Given the description of an element on the screen output the (x, y) to click on. 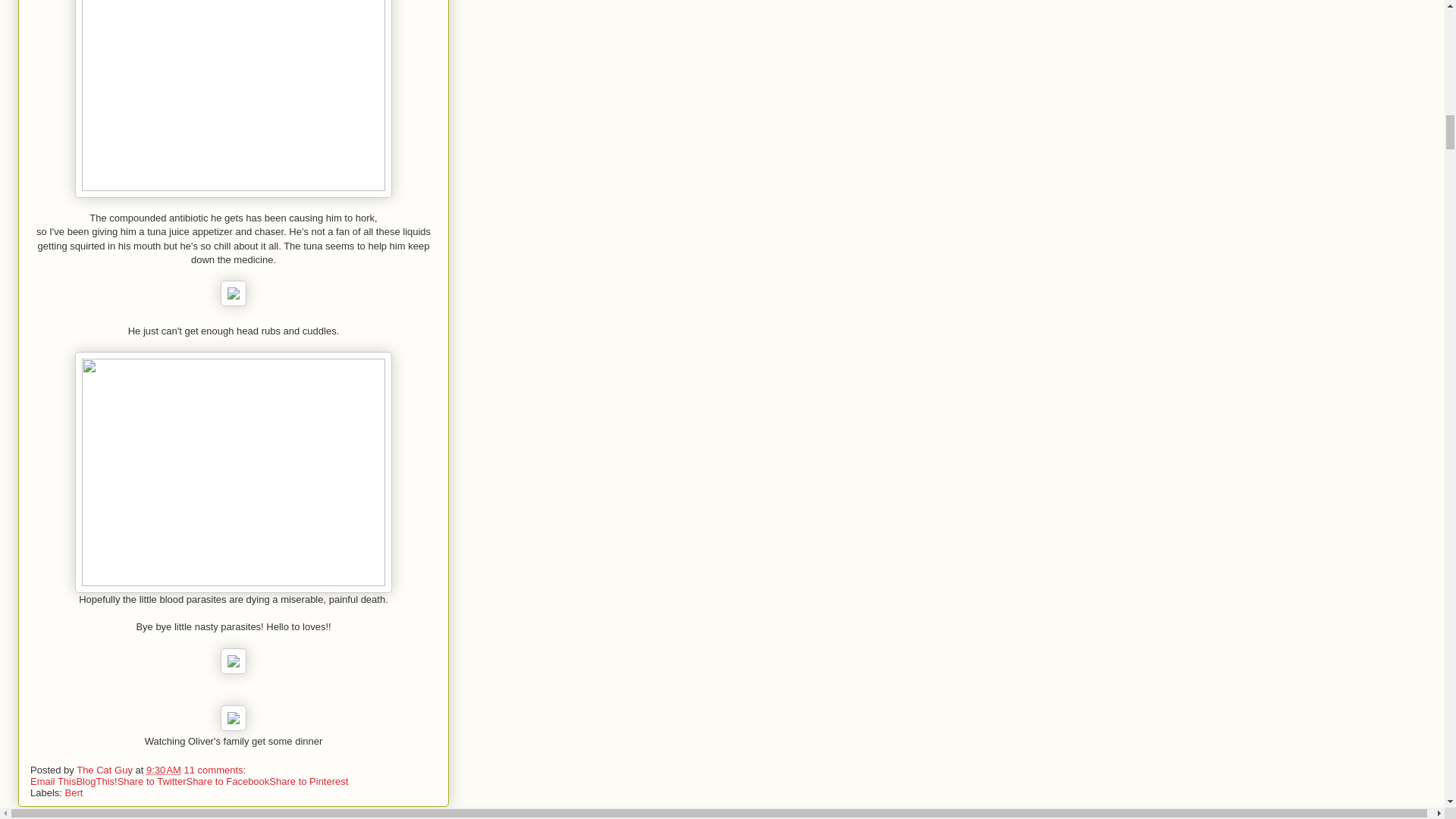
Email This (52, 781)
Email Post (255, 769)
author profile (106, 769)
BlogThis! (95, 781)
Share to Twitter (151, 781)
permanent link (163, 769)
Share to Facebook (227, 781)
